Given the description of an element on the screen output the (x, y) to click on. 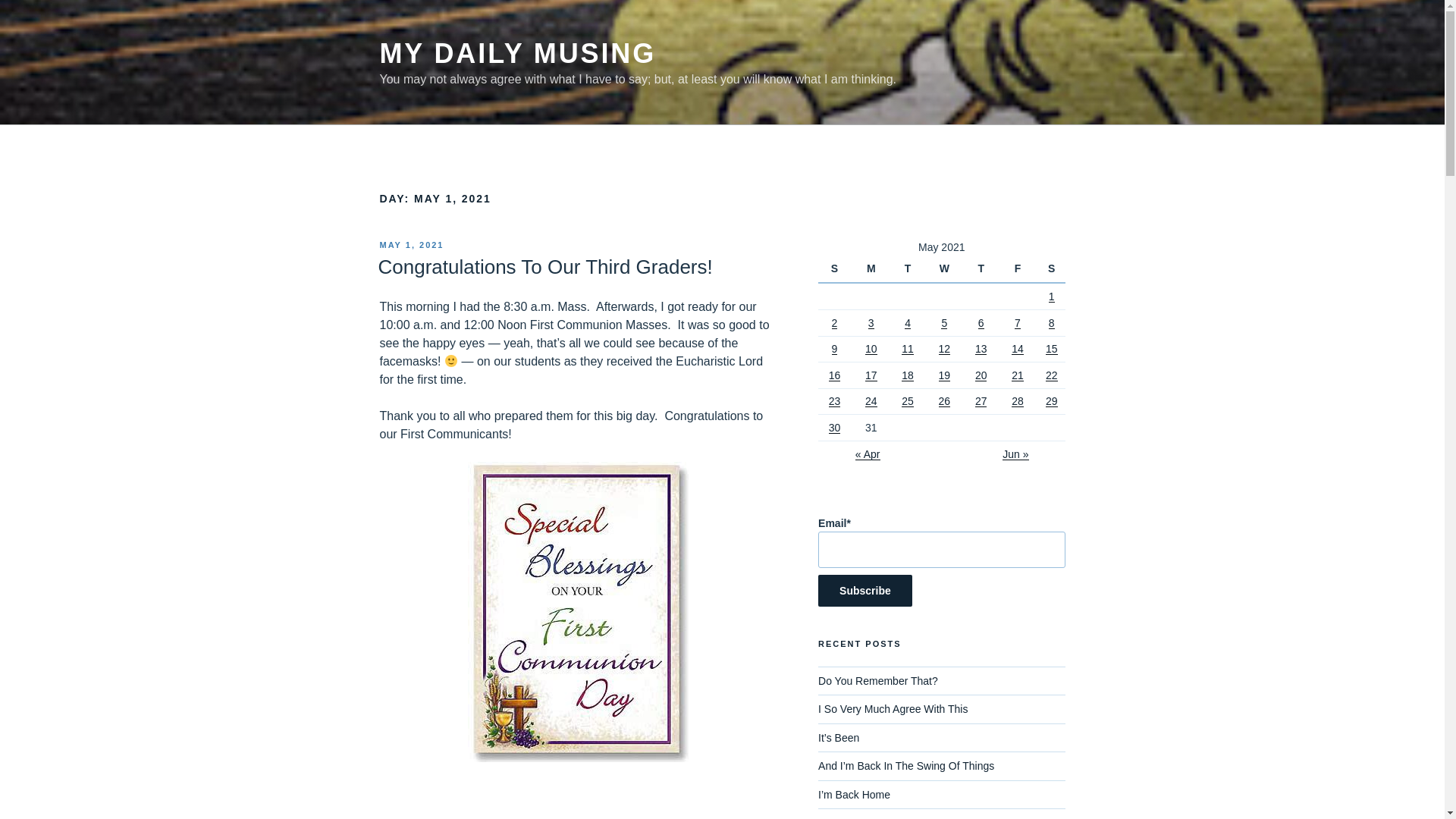
28 (1017, 400)
Subscribe (865, 590)
29 (1051, 400)
Do You Remember That? (877, 680)
10 (870, 348)
Congratulations To Our Third Graders! (544, 266)
14 (1017, 348)
13 (981, 348)
30 (834, 427)
Saturday (1051, 268)
Subscribe (865, 590)
MAY 1, 2021 (411, 244)
21 (1017, 375)
15 (1051, 348)
19 (944, 375)
